Given the description of an element on the screen output the (x, y) to click on. 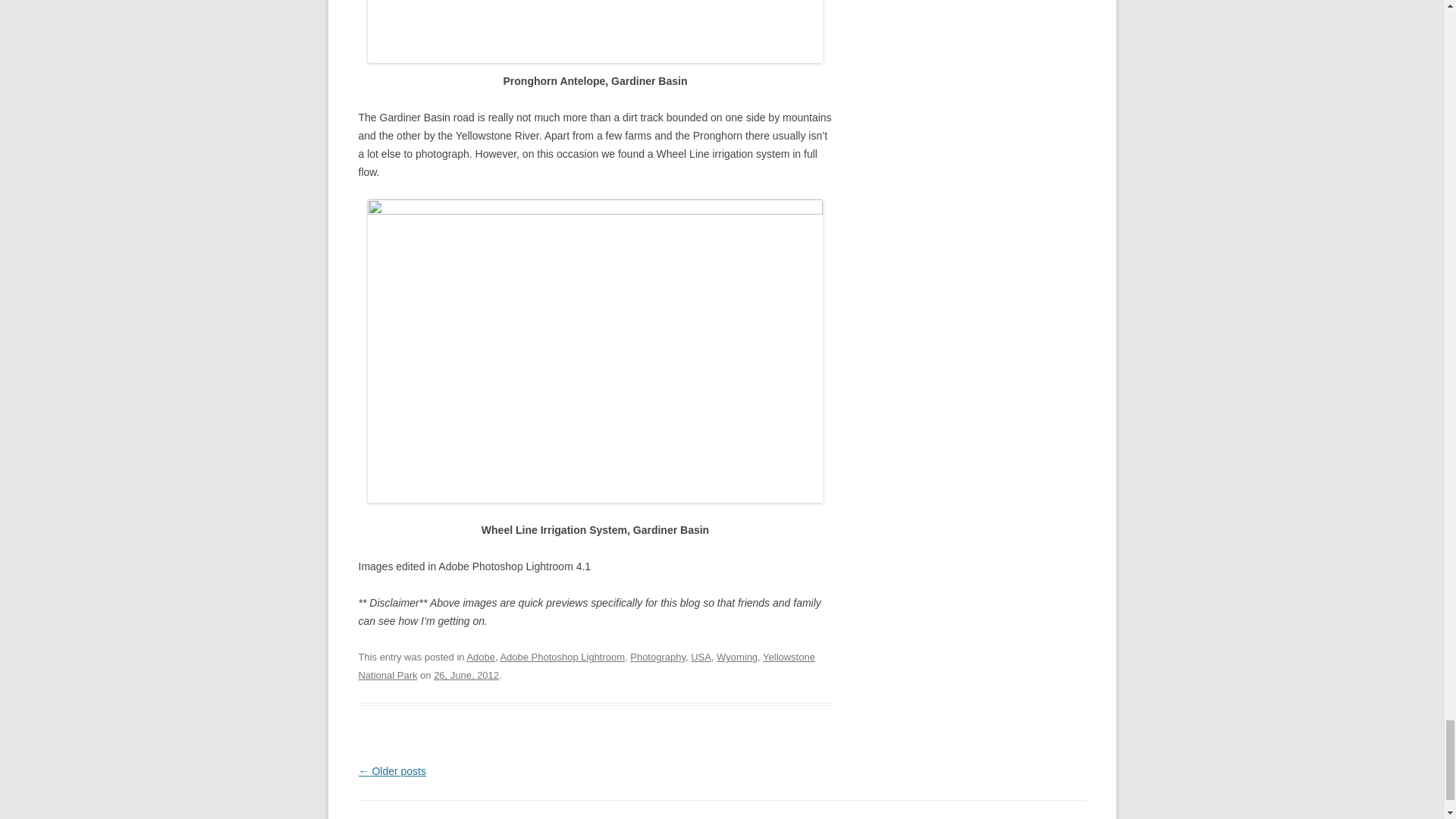
Photography (657, 656)
Adobe (480, 656)
Adobe Photoshop Lightroom (561, 656)
